Given the description of an element on the screen output the (x, y) to click on. 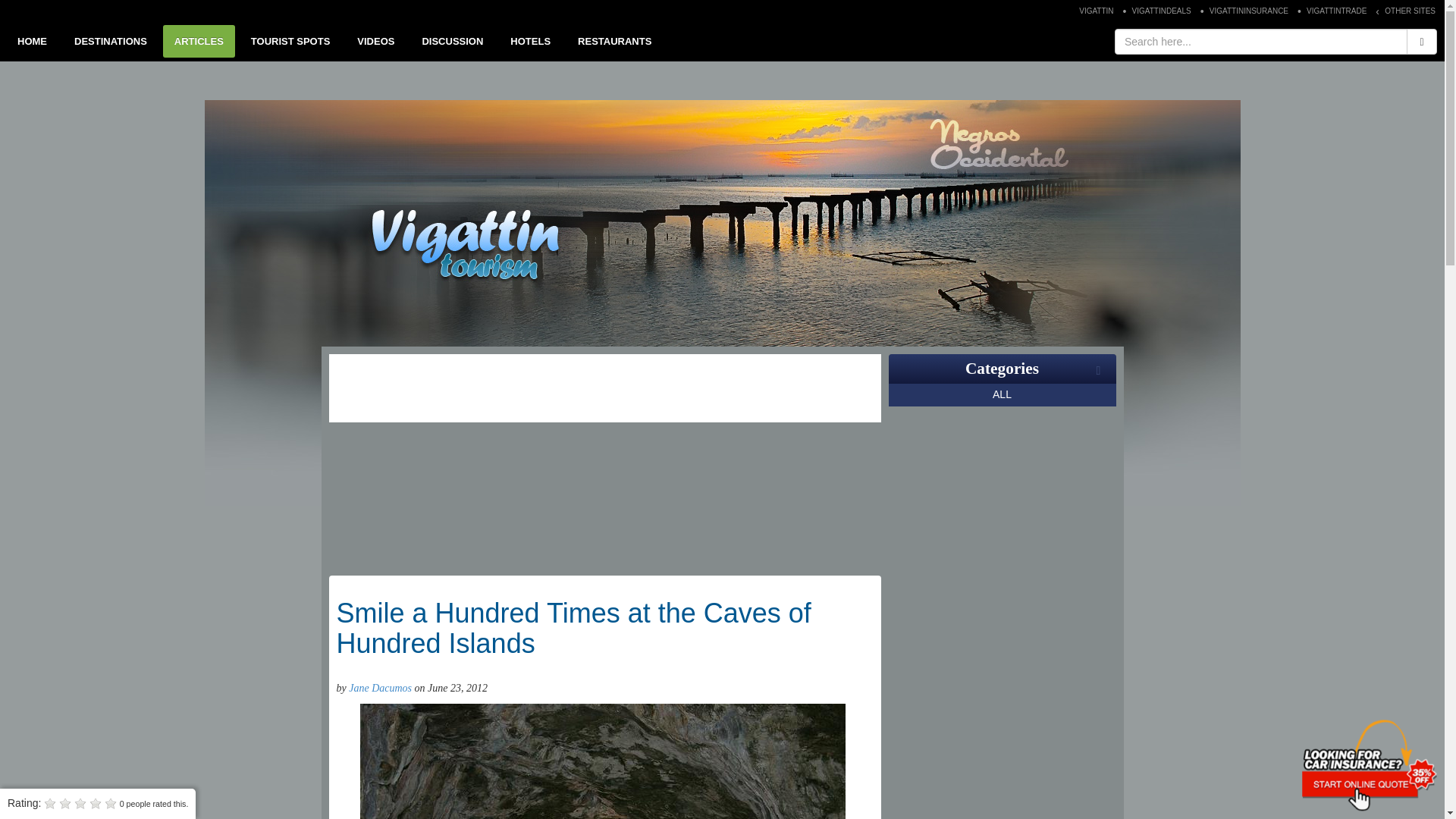
TOURIST SPOTS (291, 41)
Categories (1002, 368)
VIGATTINTRADE (1336, 11)
HOTELS (530, 41)
DISCUSSION (452, 41)
Tourism Articles (198, 41)
Tourism Videos (376, 41)
RESTAURANTS (614, 41)
VIGATTIN (1096, 11)
Tourism Restaurants (614, 41)
